Given the description of an element on the screen output the (x, y) to click on. 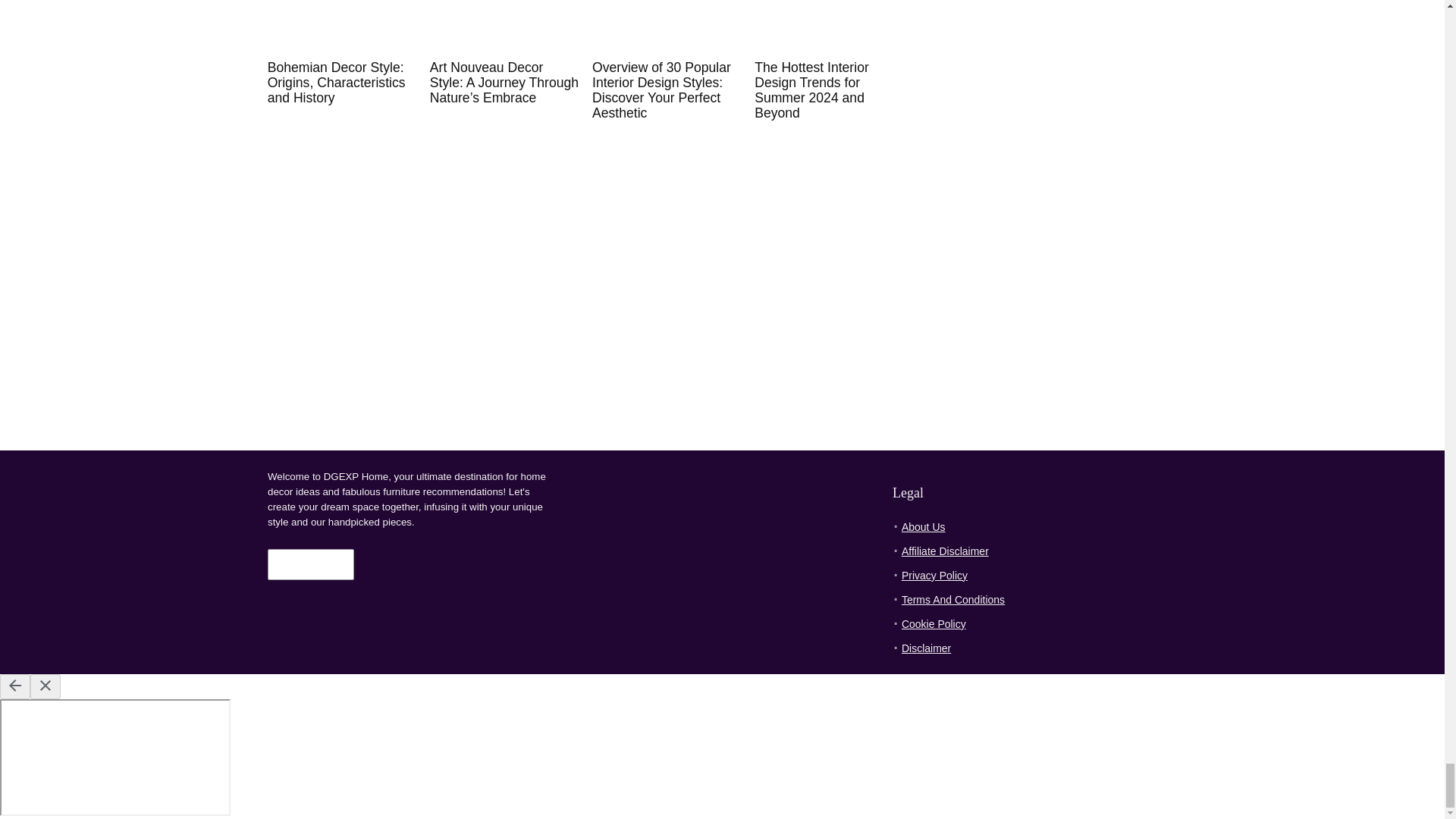
English (307, 564)
Bohemian Decor Style: Origins, Characteristics and History (336, 82)
English (295, 562)
